Given the description of an element on the screen output the (x, y) to click on. 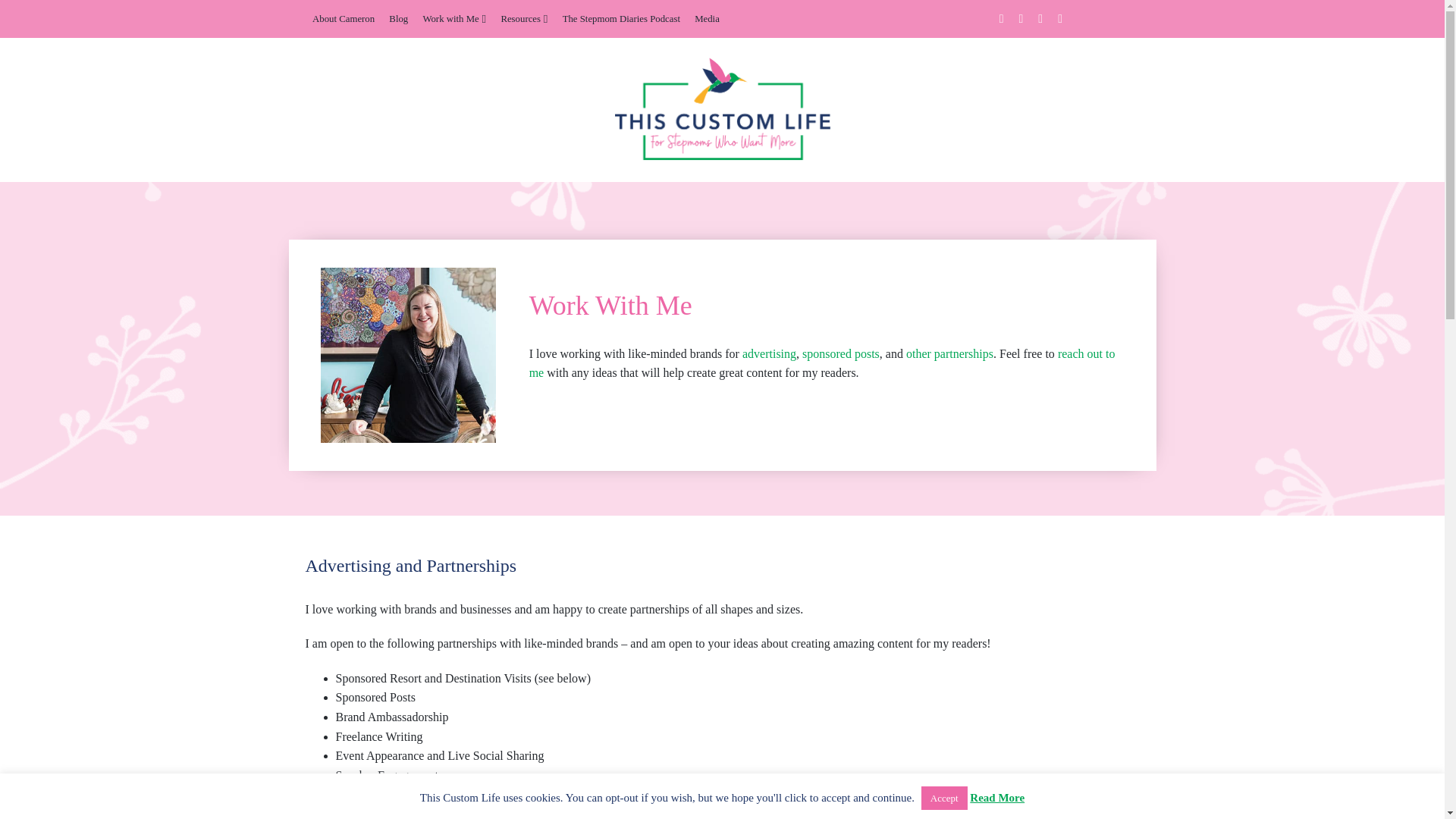
About Cameron (342, 18)
The Stepmom Diaries Podcast (620, 18)
Cameron-in-dining-room (408, 355)
sponsored posts (840, 353)
Resources (523, 18)
Work with Me (453, 18)
Media (706, 18)
other partnerships (948, 353)
advertising (769, 353)
reach out to me (822, 363)
